Given the description of an element on the screen output the (x, y) to click on. 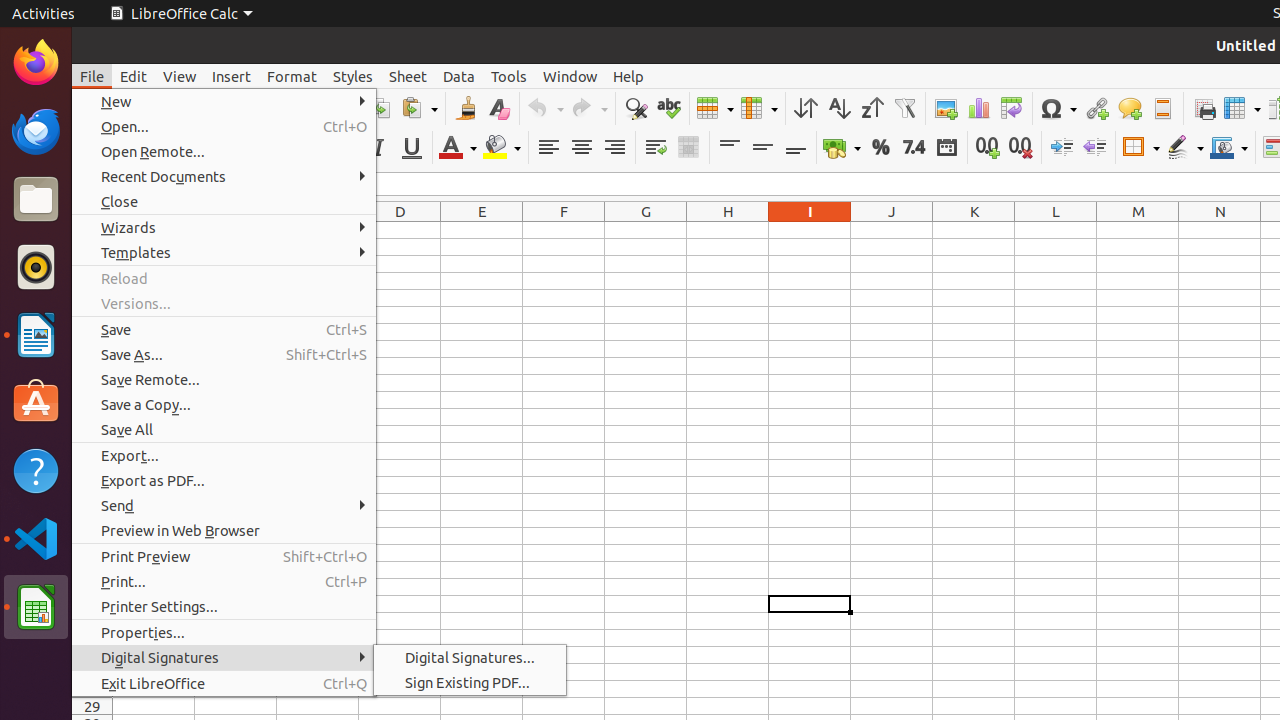
Align Left Element type: push-button (548, 147)
Close Element type: menu-item (224, 201)
Column Element type: push-button (759, 108)
Align Top Element type: push-button (729, 147)
Clone Element type: push-button (465, 108)
